Given the description of an element on the screen output the (x, y) to click on. 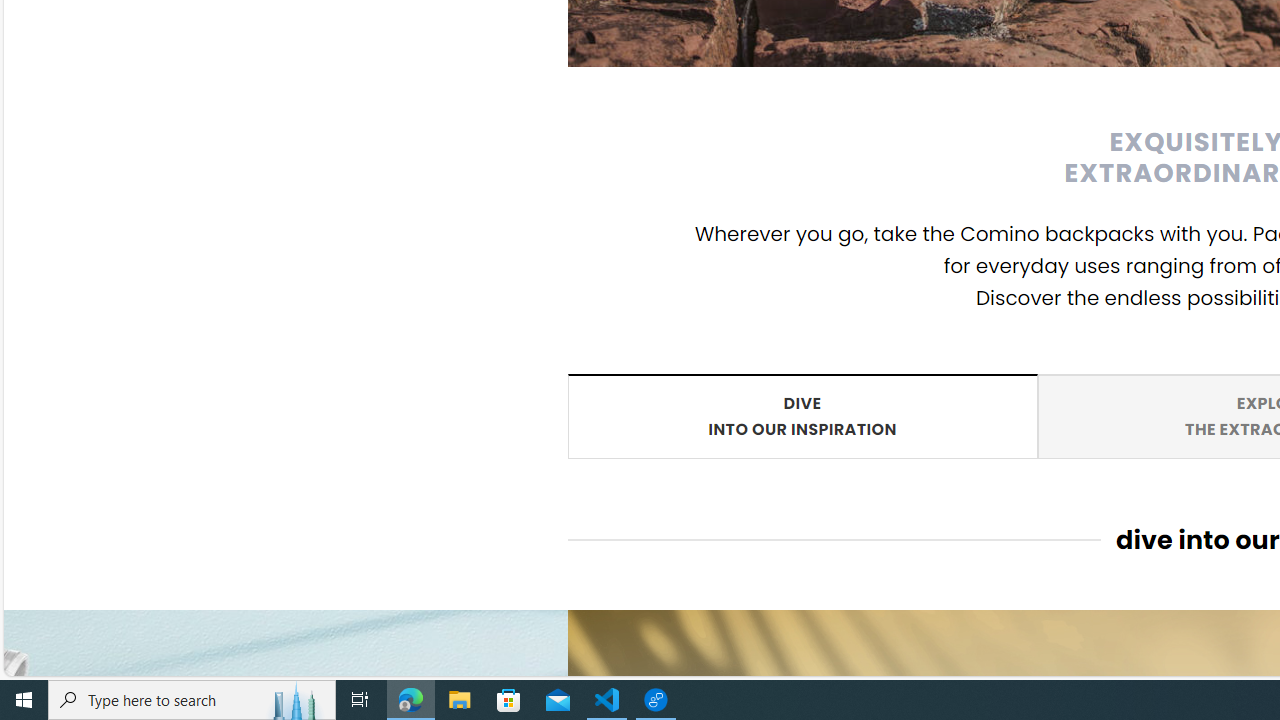
DIVE INTO OUR INSPIRATION (802, 415)
